Given the description of an element on the screen output the (x, y) to click on. 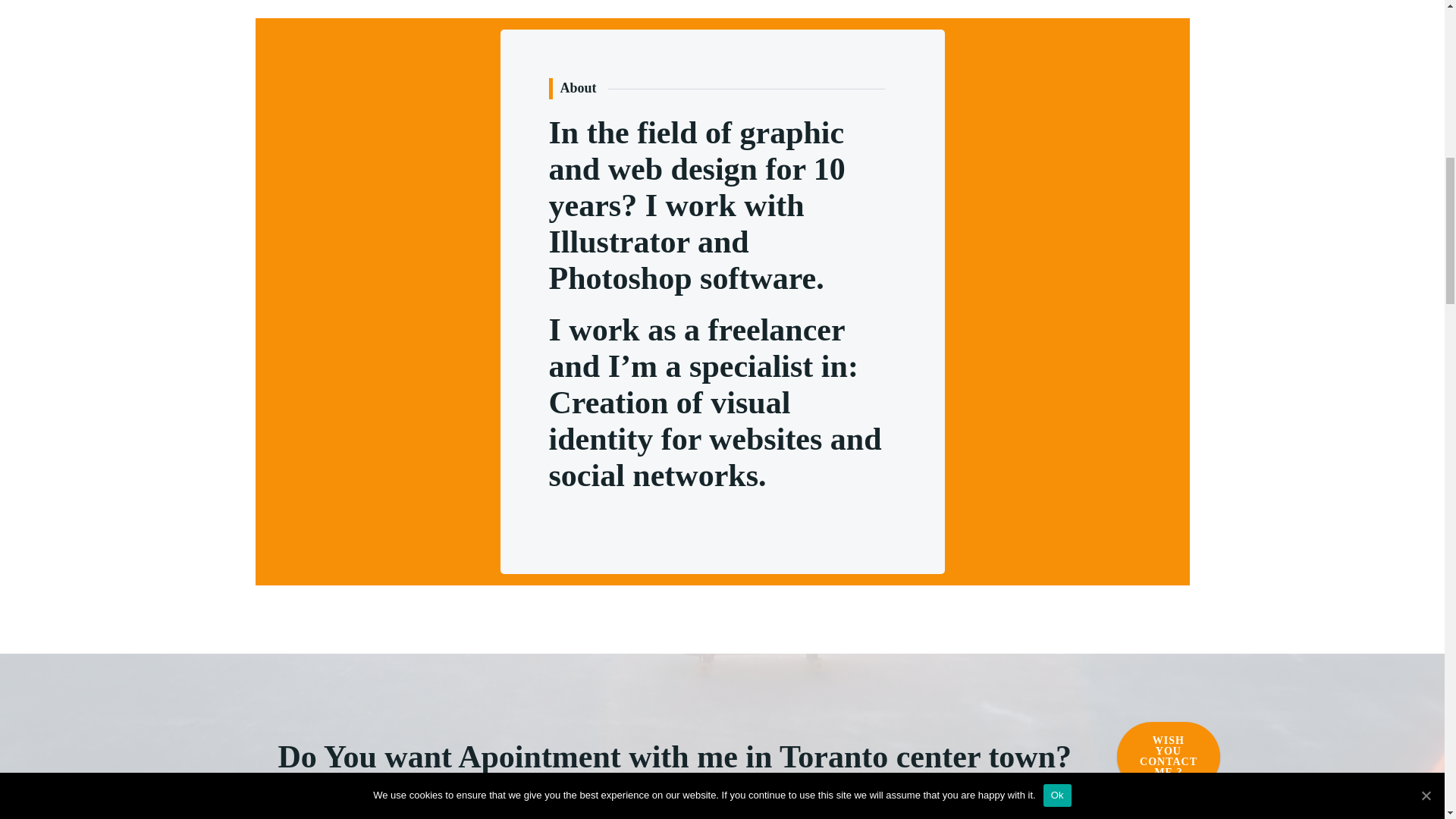
WISH YOU CONTACT ME ? (1168, 756)
